Given the description of an element on the screen output the (x, y) to click on. 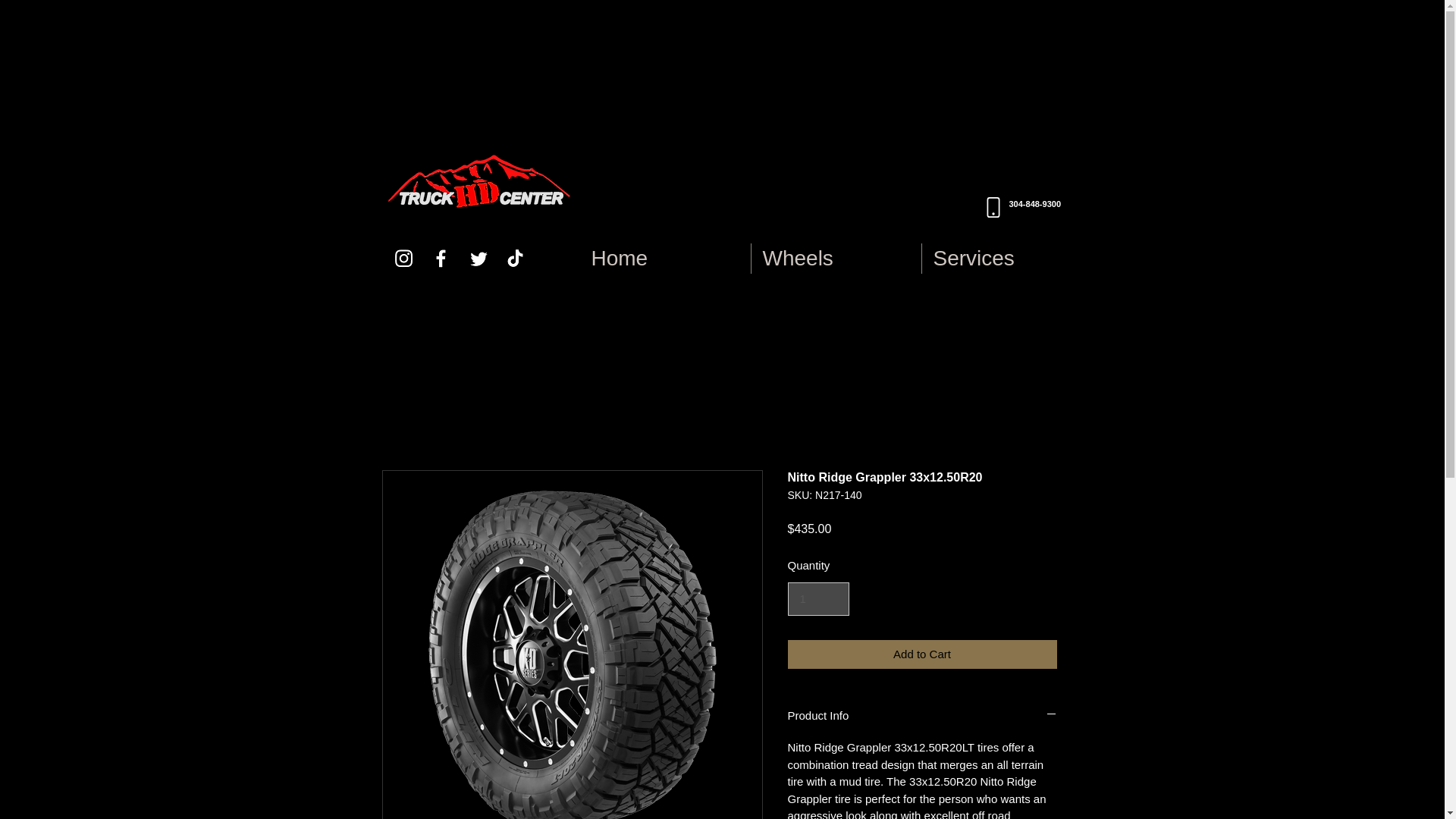
304-848-9300 (1035, 203)
1 (817, 598)
Services (910, 206)
Wheels (1005, 258)
Add to Cart (836, 258)
Product Info (922, 654)
Home (922, 715)
